Given the description of an element on the screen output the (x, y) to click on. 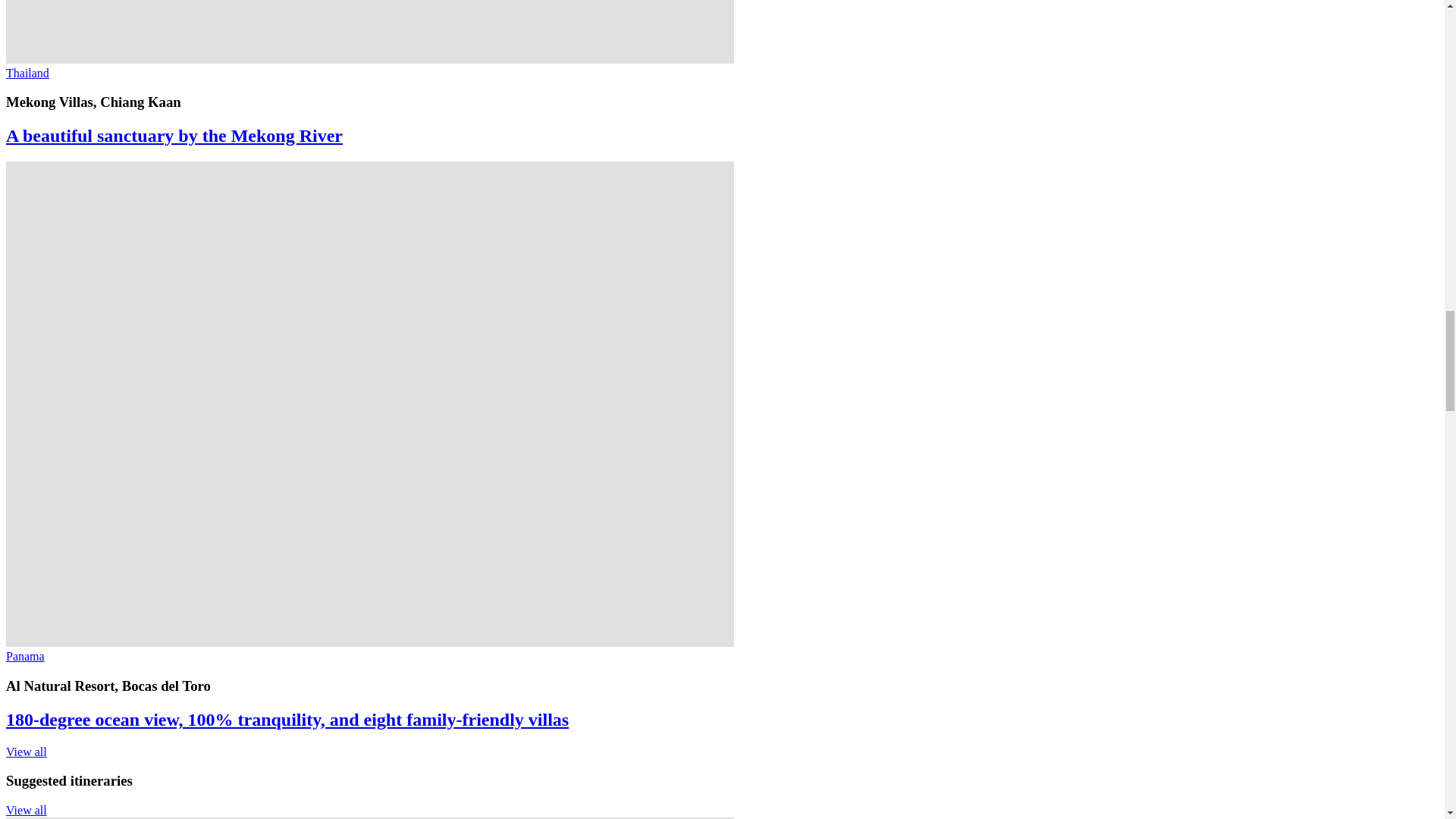
Panama (25, 656)
A beautiful sanctuary by the Mekong River (173, 135)
View all (25, 809)
View all (25, 751)
Thailand (27, 72)
